Given the description of an element on the screen output the (x, y) to click on. 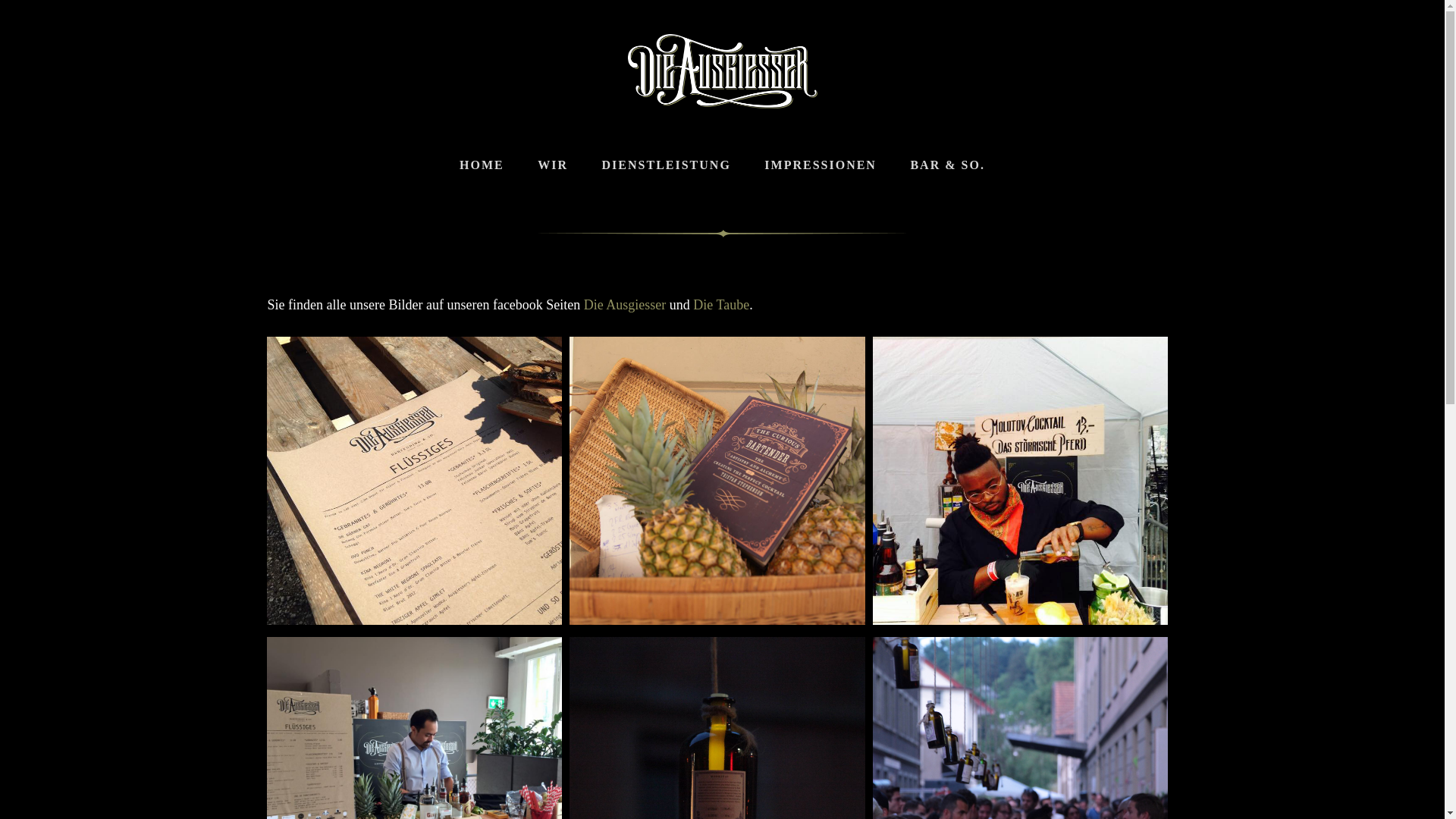
No Borders No Nation 2015 Element type: hover (1020, 480)
WIR Element type: text (552, 165)
DIENSTLEISTUNG Element type: text (666, 165)
Barkarte Mampf 2015 Element type: hover (414, 480)
Die Ausgiesser Element type: text (624, 304)
Die Taube Element type: text (721, 304)
HOME Element type: text (481, 165)
BAR & SO. Element type: text (946, 165)
Ananas Element type: hover (717, 480)
IMPRESSIONEN Element type: text (820, 165)
